Given the description of an element on the screen output the (x, y) to click on. 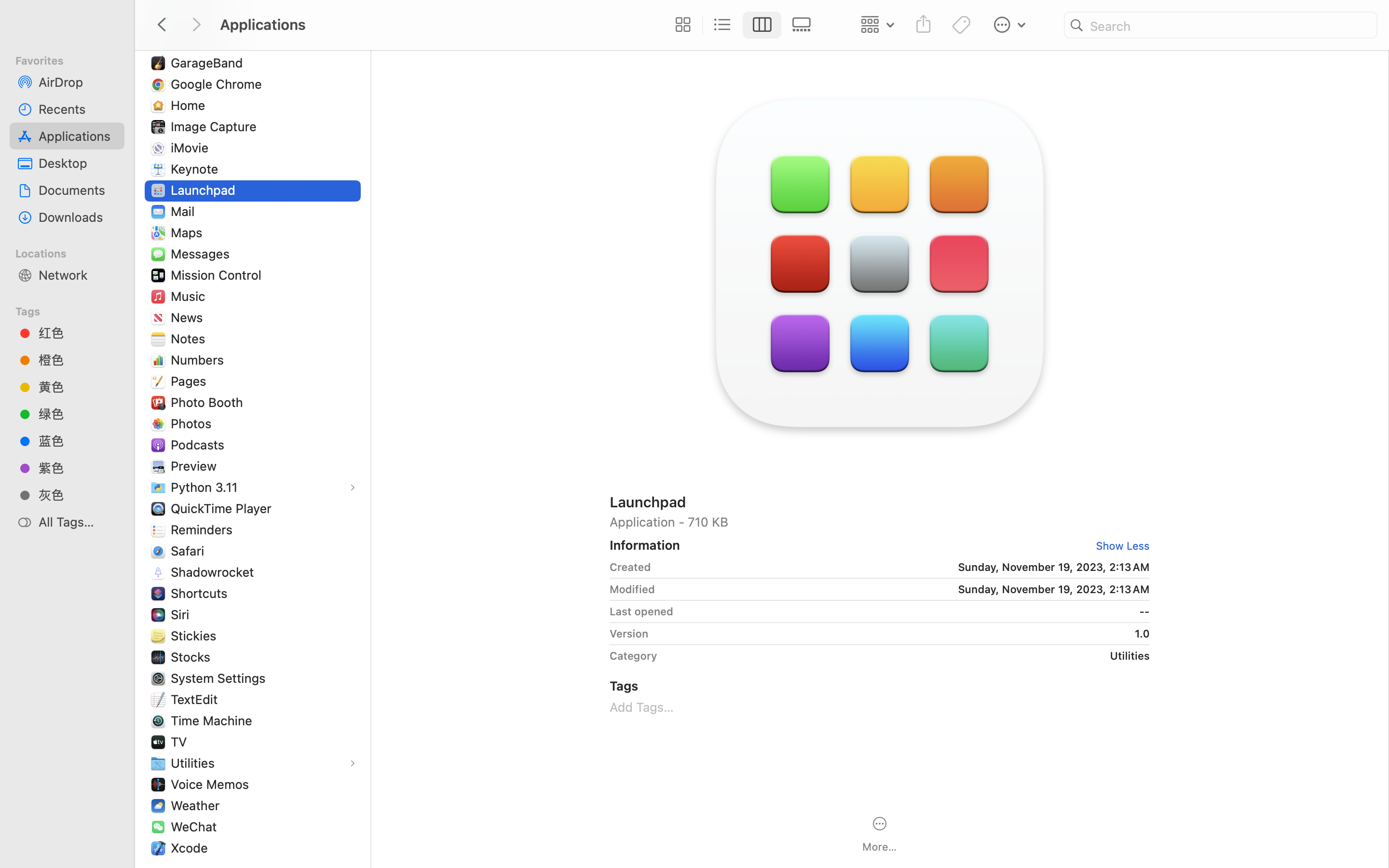
Favorites Element type: AXStaticText (72, 59)
Shadowrocket Element type: AXTextField (214, 571)
GarageBand Element type: AXTextField (208, 62)
1.0 Element type: AXStaticText (901, 633)
Category Element type: AXStaticText (632, 655)
